Given the description of an element on the screen output the (x, y) to click on. 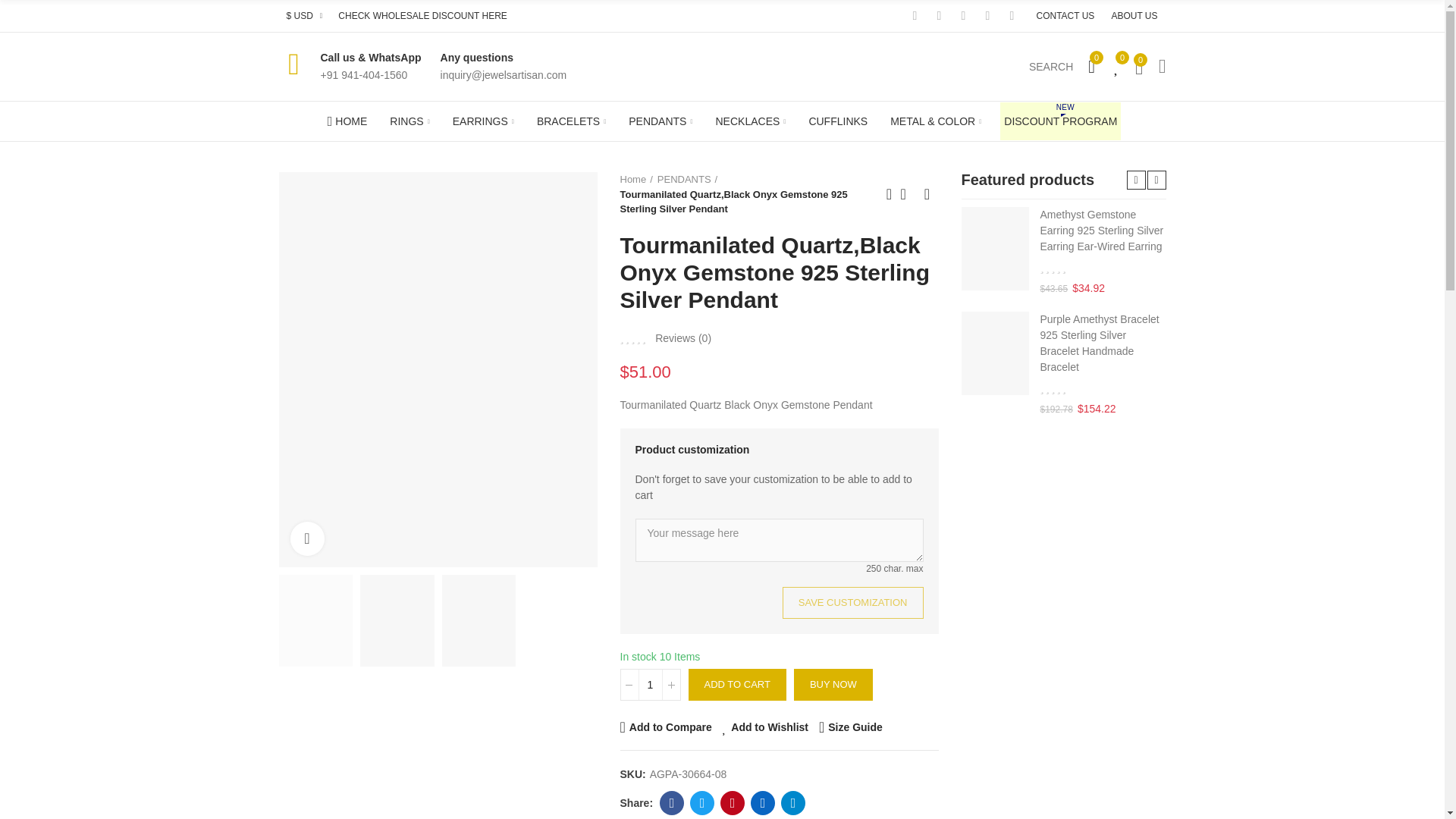
HOME (347, 121)
SEARCH (1051, 66)
EARRINGS (483, 120)
1 (650, 685)
RINGS (408, 120)
CONTACT US (1064, 15)
CHECK WHOLESALE DISCOUNT HERE (421, 15)
EARRINGS (483, 120)
Search (1051, 66)
Home (347, 121)
RINGS (408, 120)
ABOUT US (1134, 15)
